Given the description of an element on the screen output the (x, y) to click on. 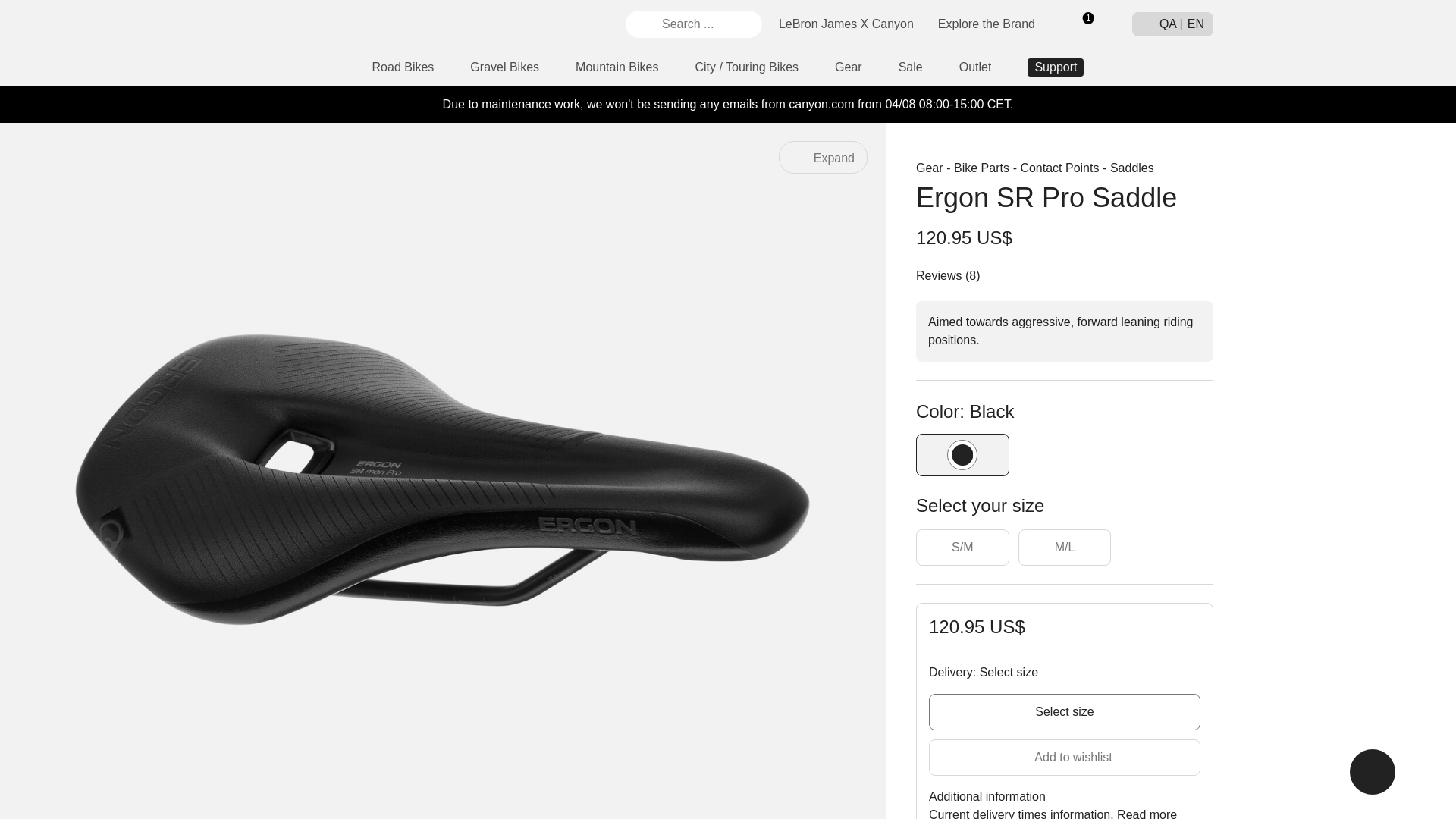
Explore the Brand (986, 23)
1 (1082, 24)
Canyon (297, 23)
LeBron James X Canyon (846, 23)
Road Bikes (402, 67)
Search ... (693, 23)
